Given the description of an element on the screen output the (x, y) to click on. 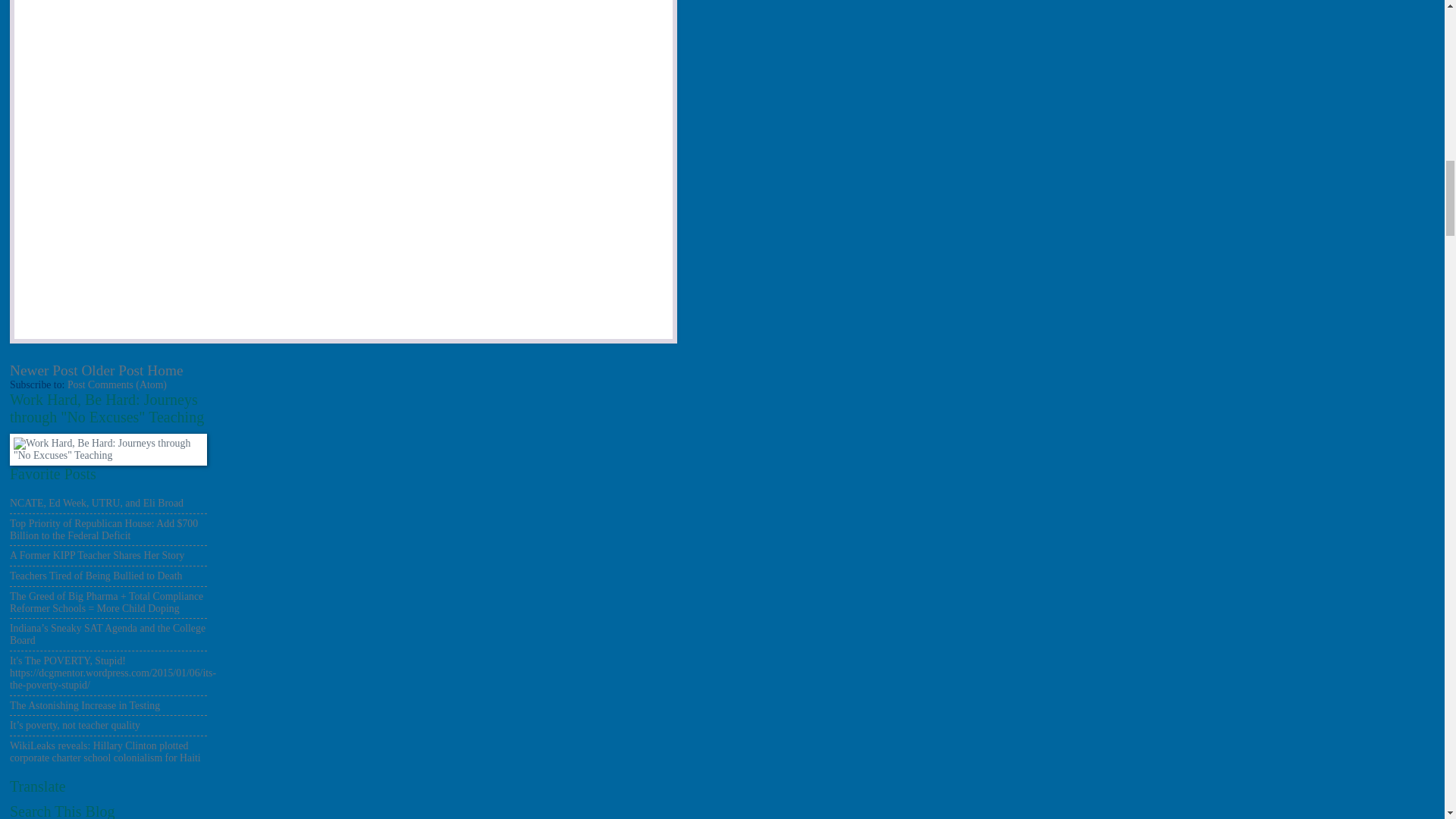
NCATE, Ed Week, UTRU, and Eli Broad (96, 502)
The Astonishing Increase in Testing (85, 705)
Older Post (111, 370)
A Former KIPP Teacher Shares Her Story (97, 555)
Teachers Tired of Being Bullied to Death (96, 575)
Newer Post (44, 370)
Newer Post (44, 370)
Older Post (111, 370)
Home (165, 370)
